Given the description of an element on the screen output the (x, y) to click on. 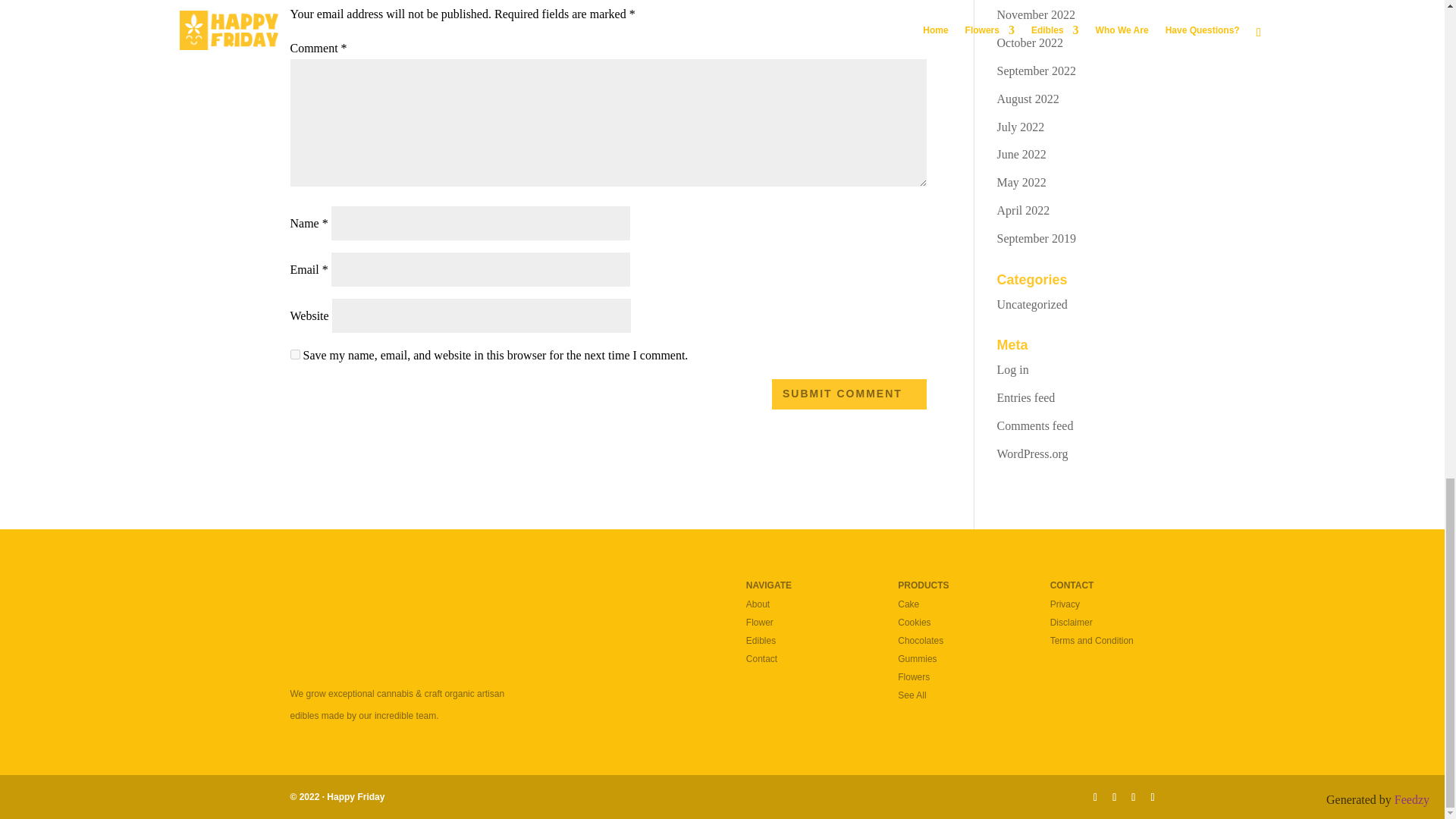
yes (294, 354)
Submit Comment (848, 394)
Submit Comment (848, 394)
